Given the description of an element on the screen output the (x, y) to click on. 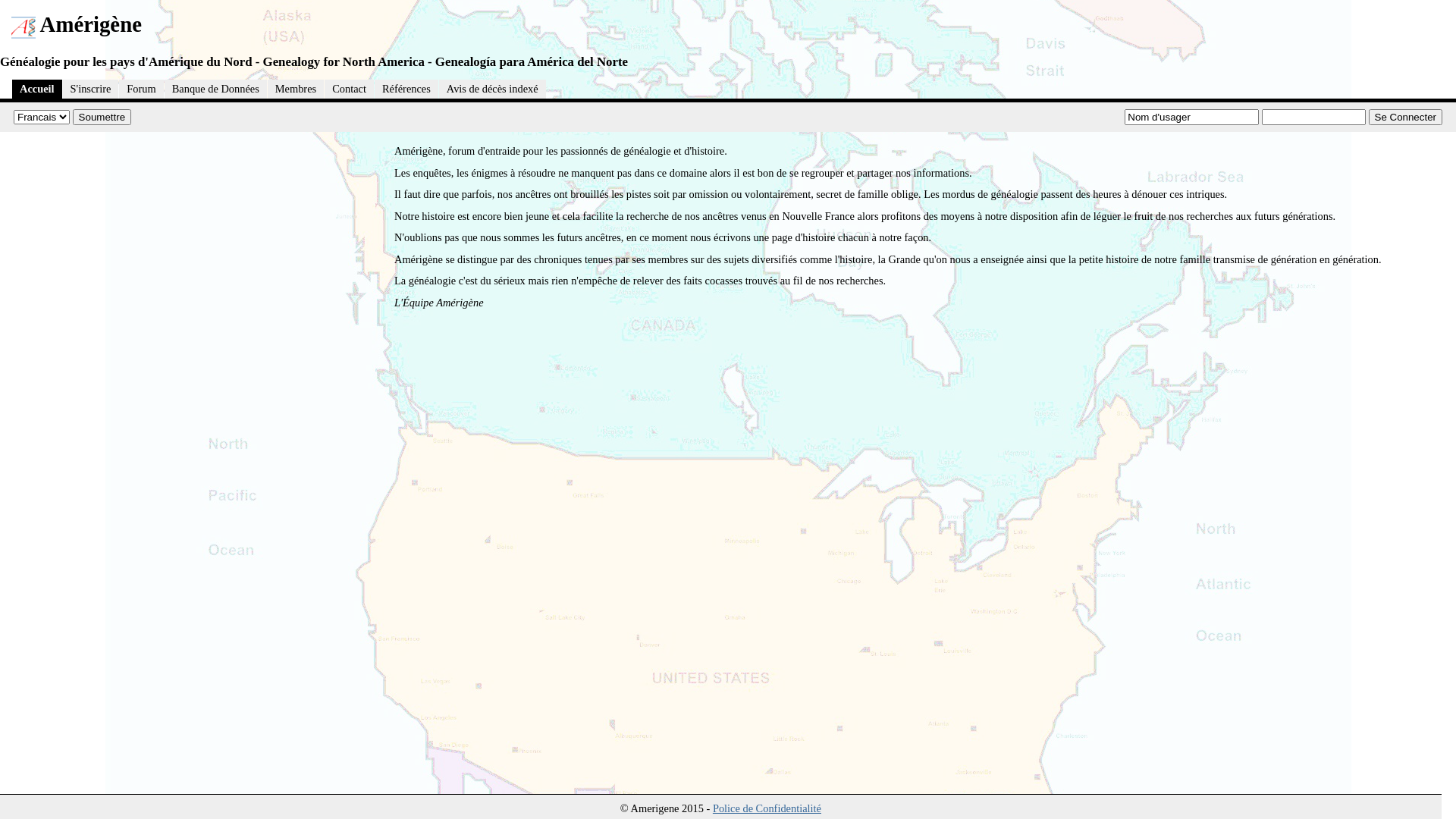
Membres Element type: text (295, 88)
S'inscrire Element type: text (90, 88)
Forum Element type: text (141, 88)
Se Connecter Element type: text (1405, 117)
Contact Element type: text (348, 88)
Soumettre Element type: text (101, 117)
Accueil Element type: text (37, 88)
